Given the description of an element on the screen output the (x, y) to click on. 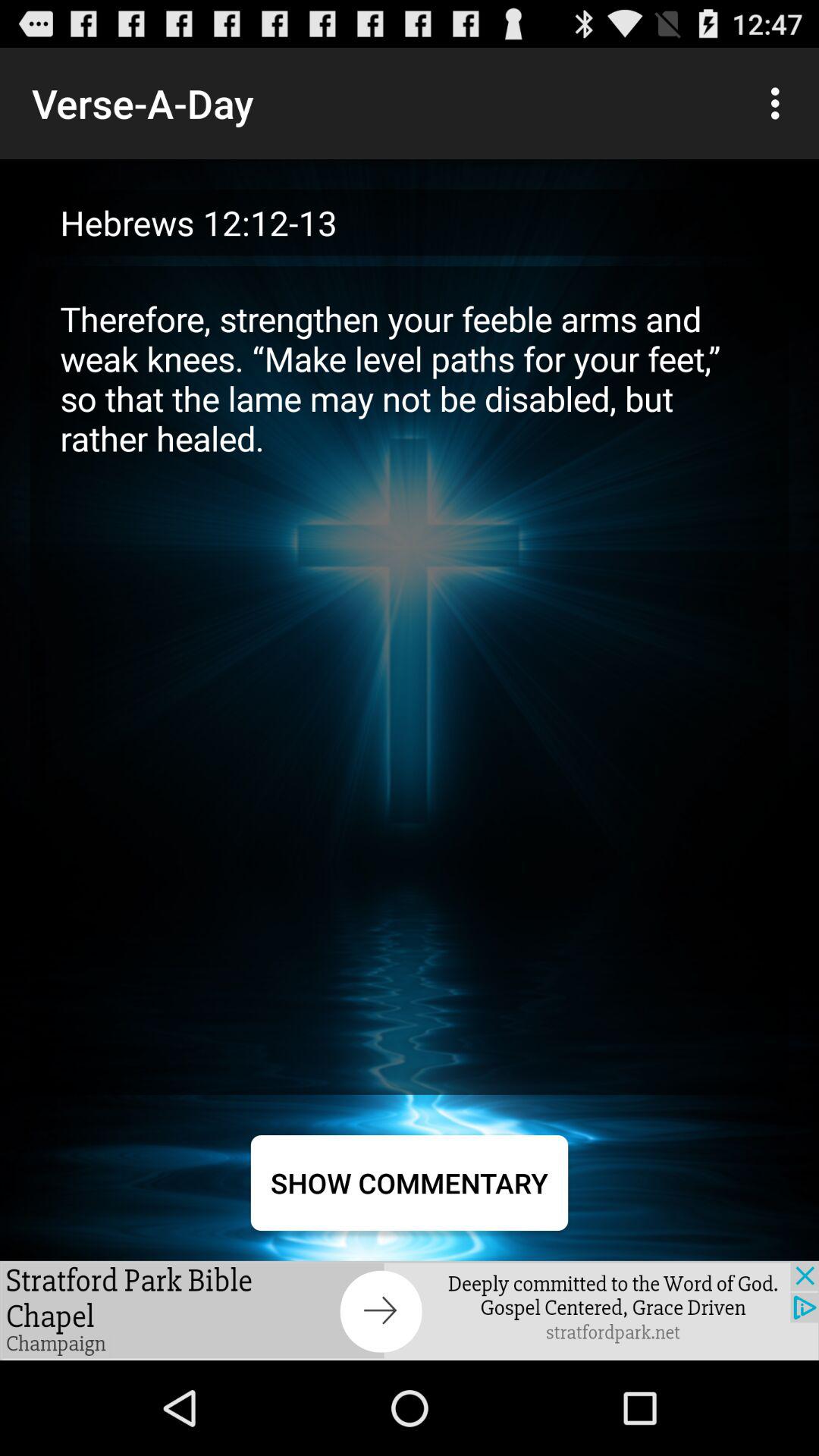
clickable advertisement (409, 1310)
